Given the description of an element on the screen output the (x, y) to click on. 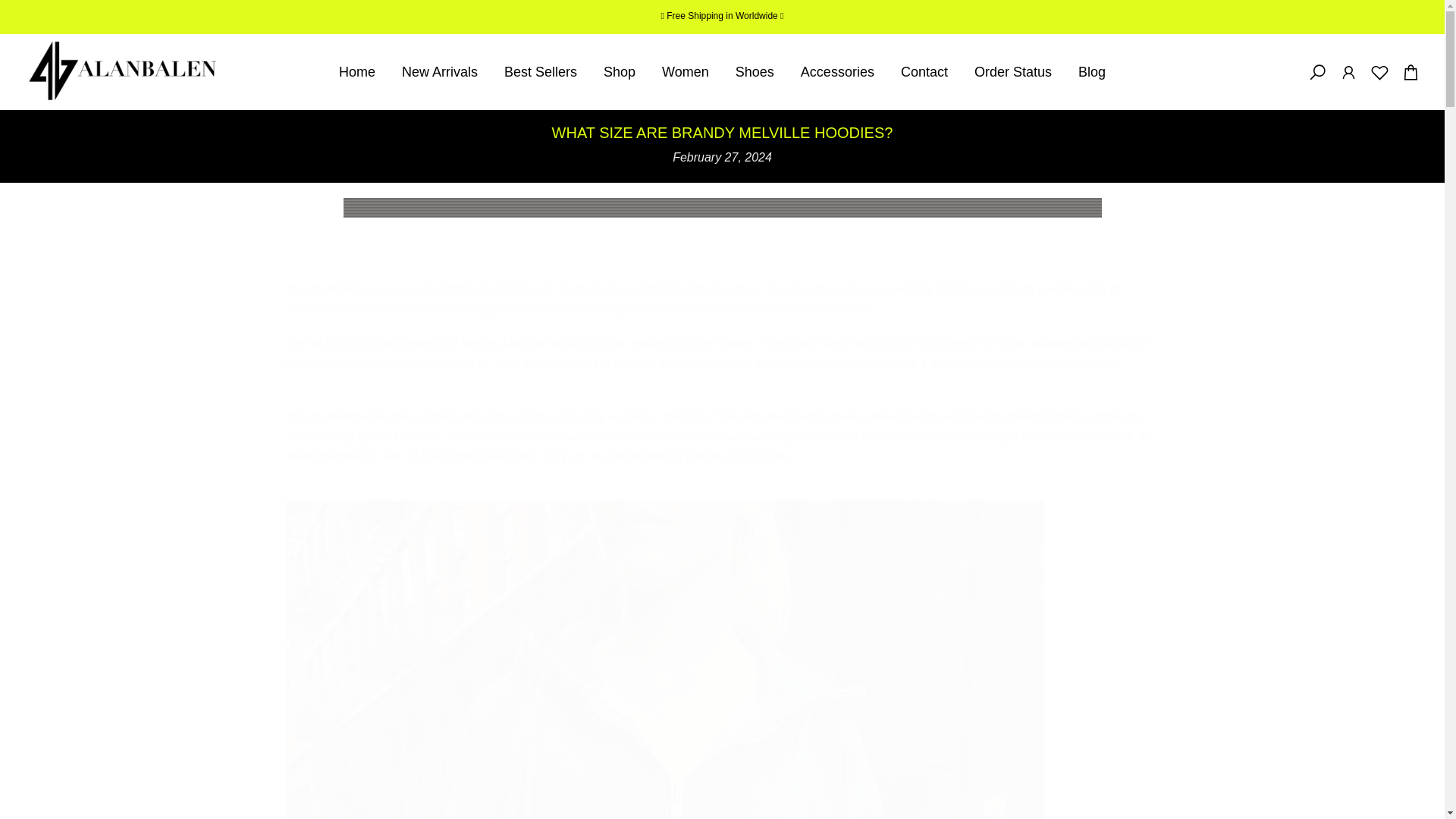
Skip to content (10, 7)
Best Sellers (541, 71)
Accessories (836, 71)
Women (685, 71)
Shop (620, 71)
Shoes (754, 71)
Order Status (1012, 71)
Contact (923, 71)
Home (356, 71)
New Arrivals (439, 71)
Blog (1091, 71)
